Given the description of an element on the screen output the (x, y) to click on. 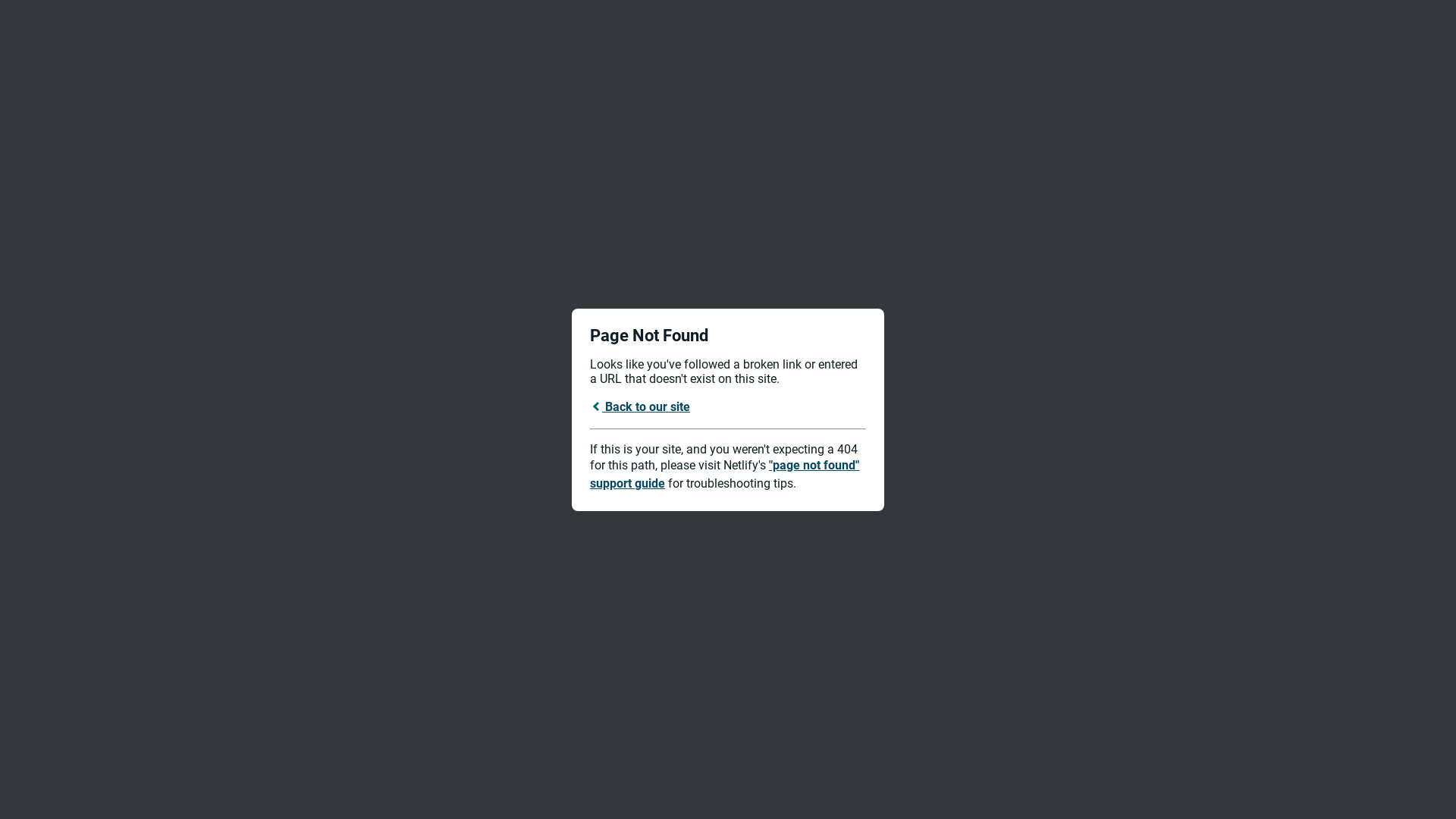
Back to our site Element type: text (639, 405)
"page not found" support guide Element type: text (724, 474)
